Given the description of an element on the screen output the (x, y) to click on. 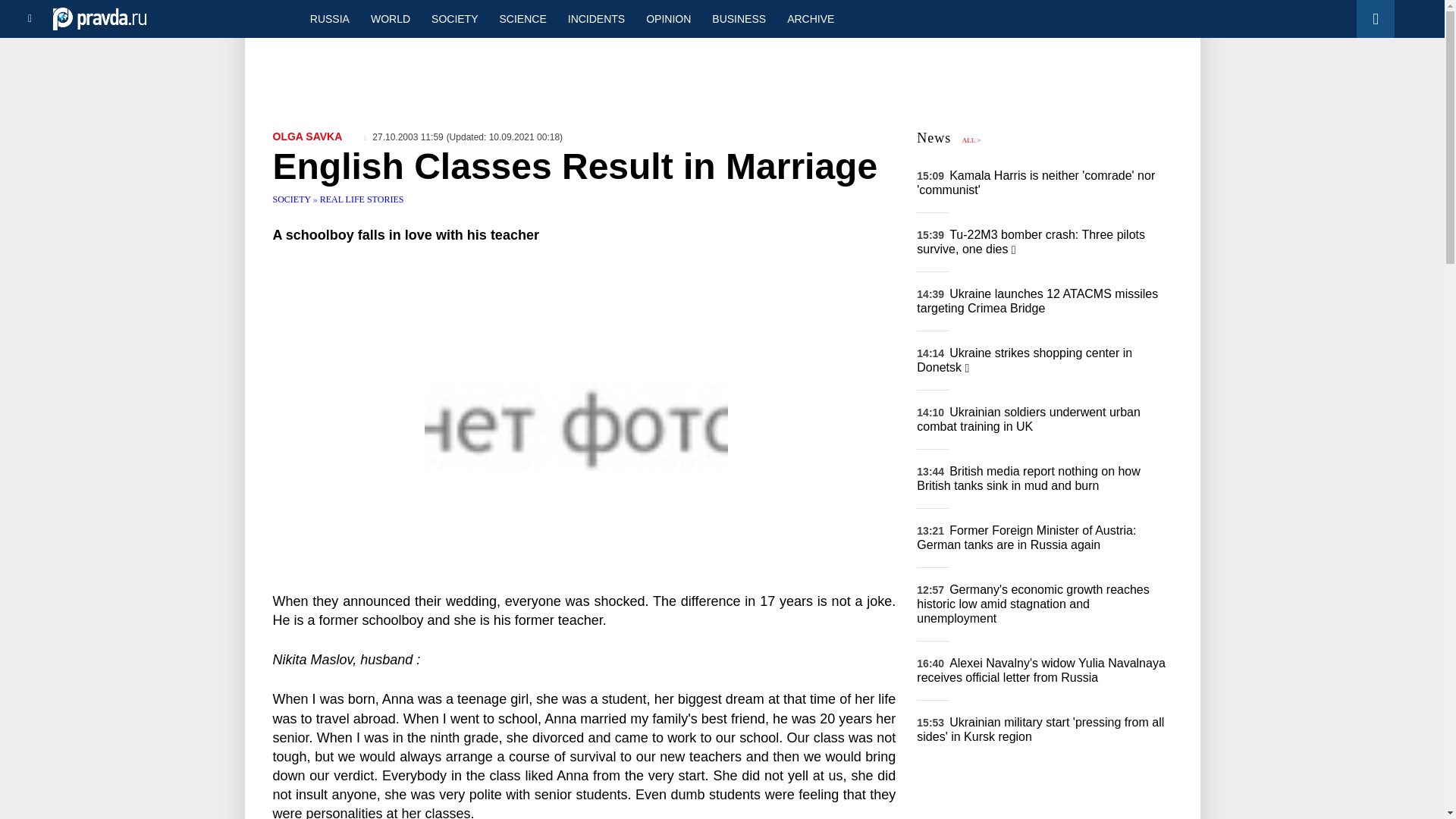
OPINION (667, 18)
SOCIETY (293, 199)
SOCIETY (453, 18)
Ukraine strikes shopping center in Donetsk (1024, 359)
REAL LIFE STORIES (362, 199)
OLGA SAVKA (307, 136)
INCIDENTS (595, 18)
